Given the description of an element on the screen output the (x, y) to click on. 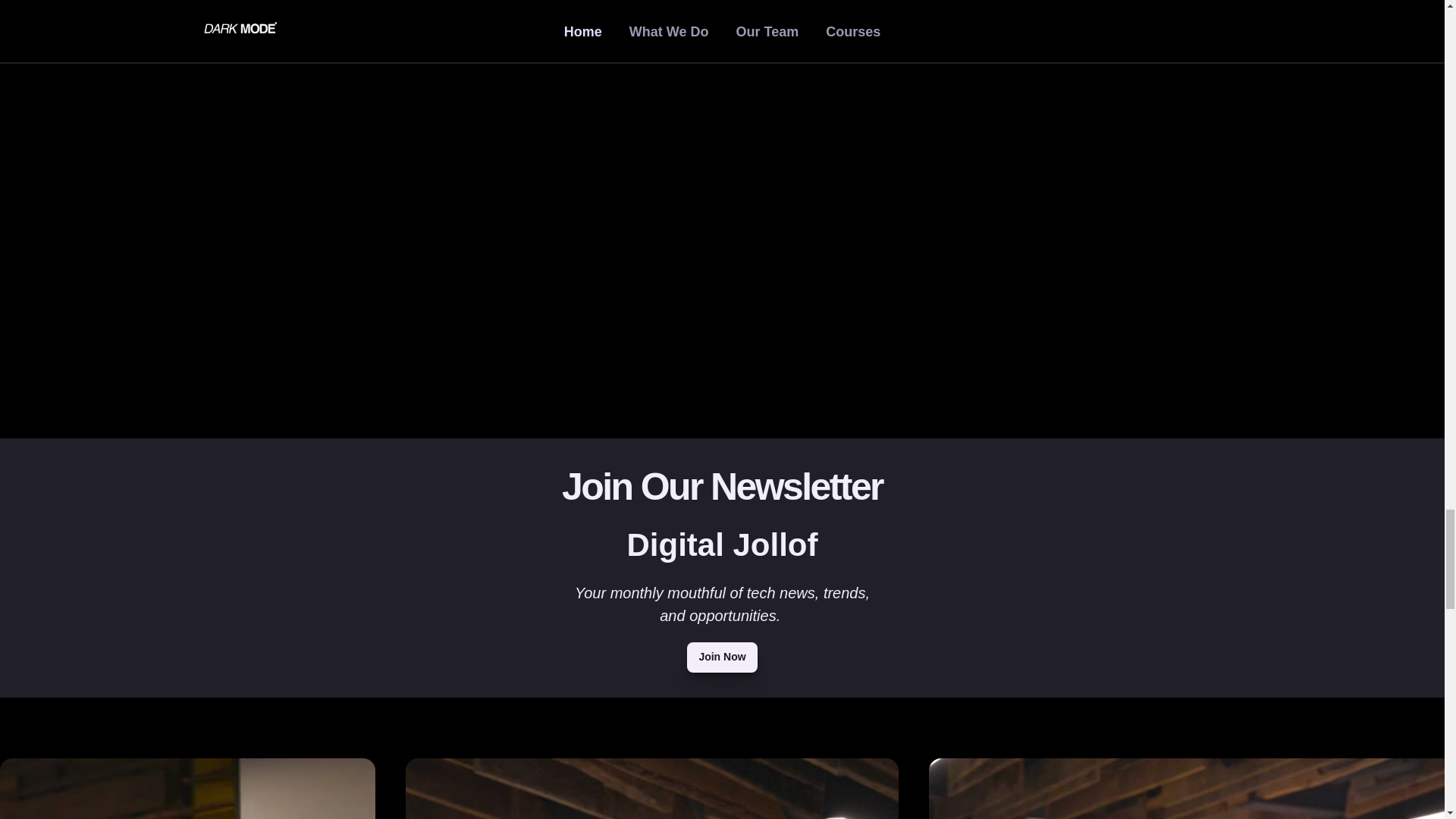
Join Now (722, 657)
